Given the description of an element on the screen output the (x, y) to click on. 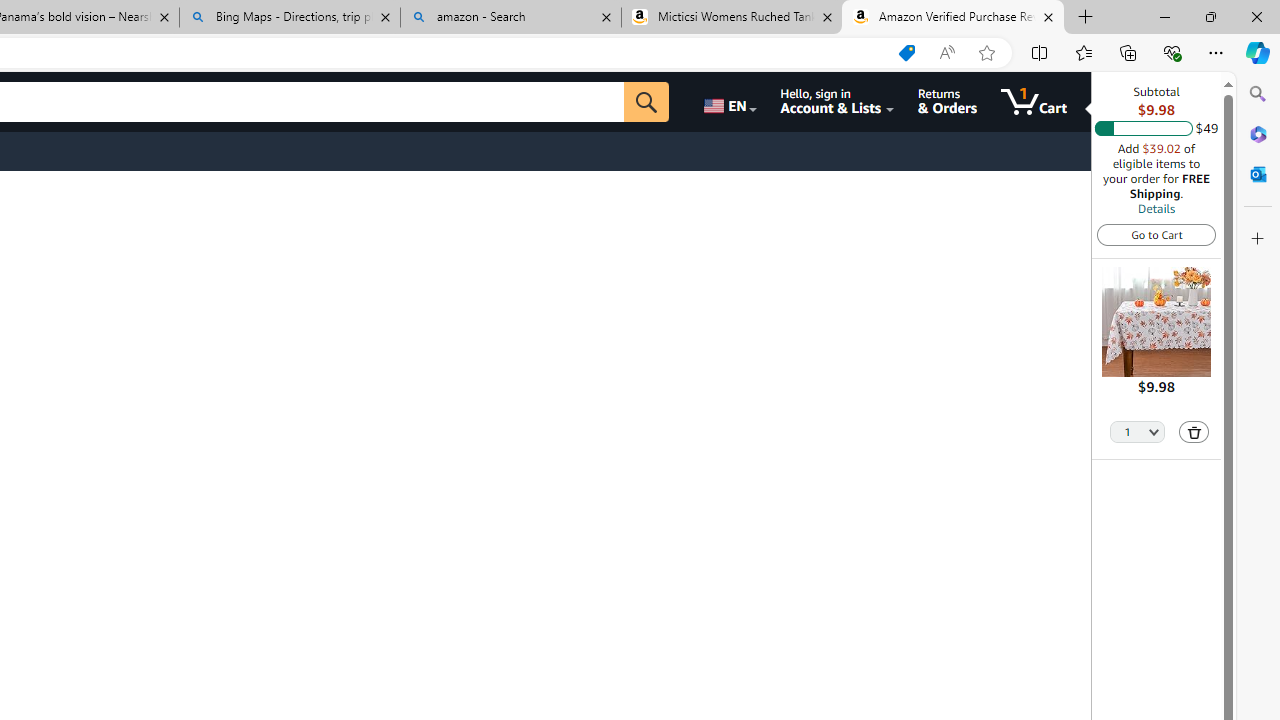
1 item in cart (1034, 101)
Amazon Verified Purchase Reviews - Amazon Customer Service (953, 17)
Shopping in Microsoft Edge (906, 53)
Quantity Selector (1137, 430)
Returns & Orders (946, 101)
